Given the description of an element on the screen output the (x, y) to click on. 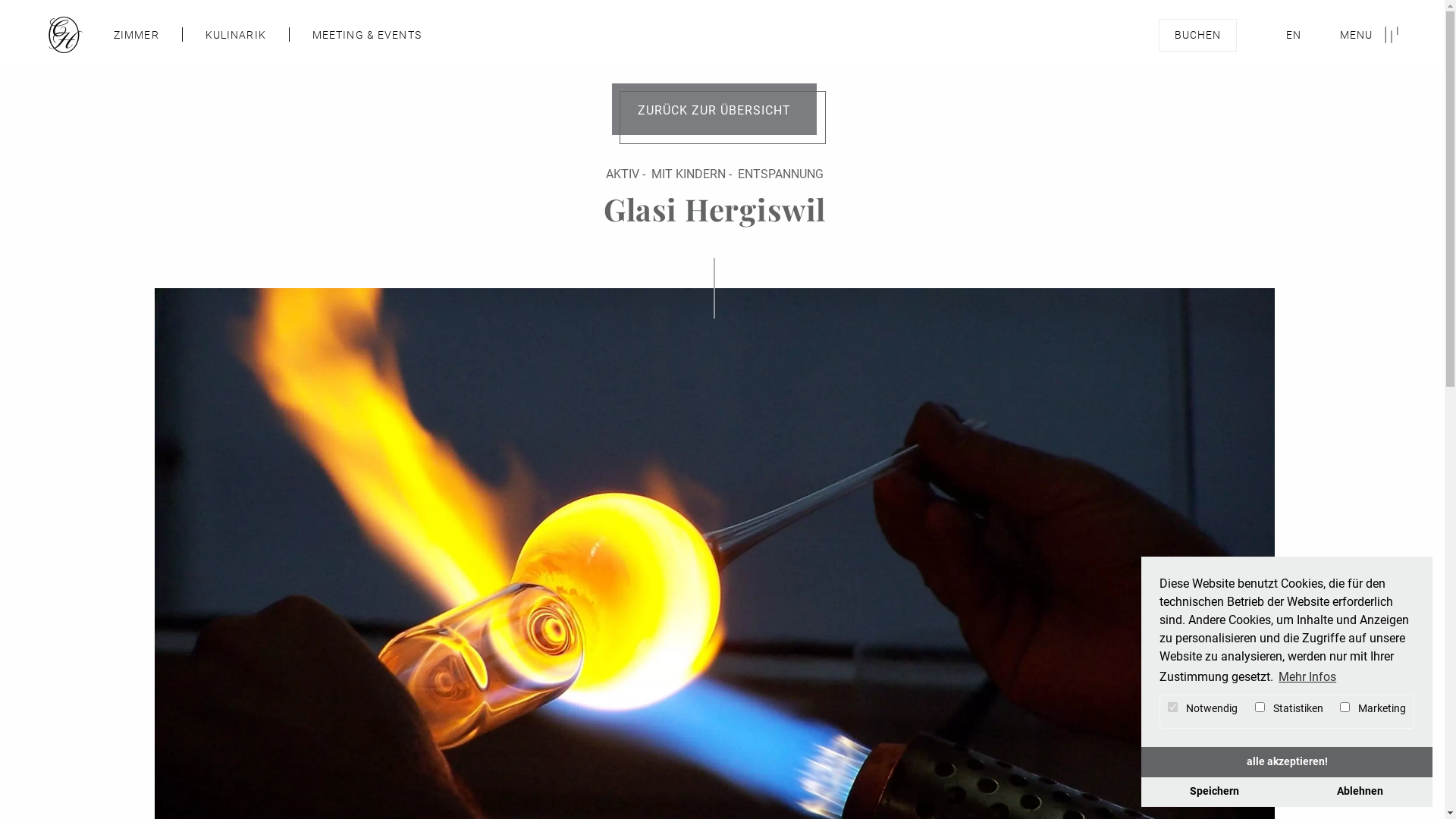
KULINARIK Element type: text (235, 34)
MENU Element type: text (1369, 34)
Speichern Element type: text (1213, 791)
Ablehnen Element type: text (1359, 791)
ZIMMER Element type: text (136, 34)
Mehr Infos Element type: text (1307, 676)
MEETING & EVENTS Element type: text (366, 34)
BUCHEN Element type: text (1197, 34)
EN Element type: text (1293, 34)
alle akzeptieren! Element type: text (1286, 761)
